Given the description of an element on the screen output the (x, y) to click on. 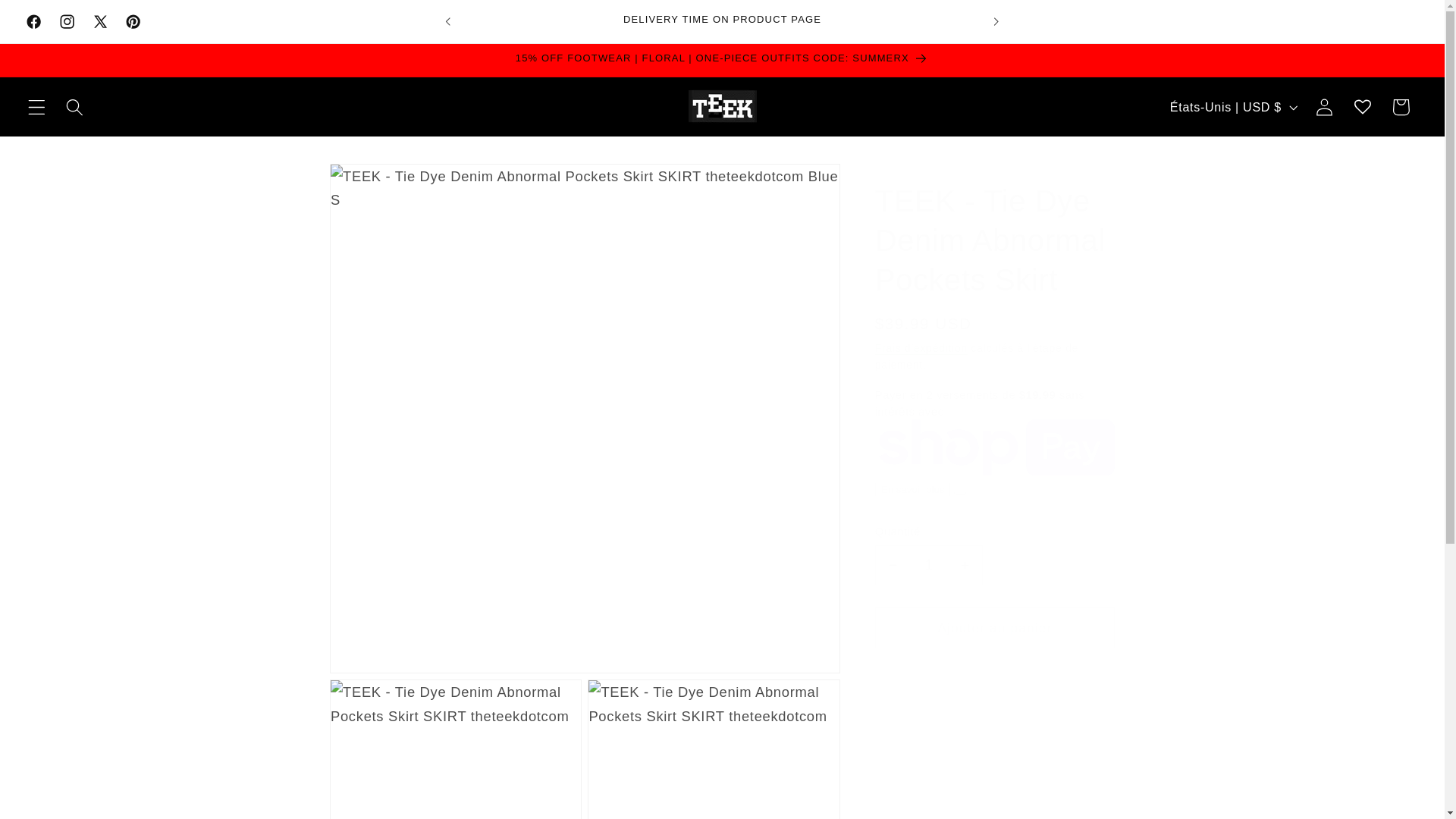
1 (928, 565)
Facebook (33, 21)
Ignorer et passer au contenu (52, 20)
Instagram (67, 21)
Pinterest (132, 21)
